Given the description of an element on the screen output the (x, y) to click on. 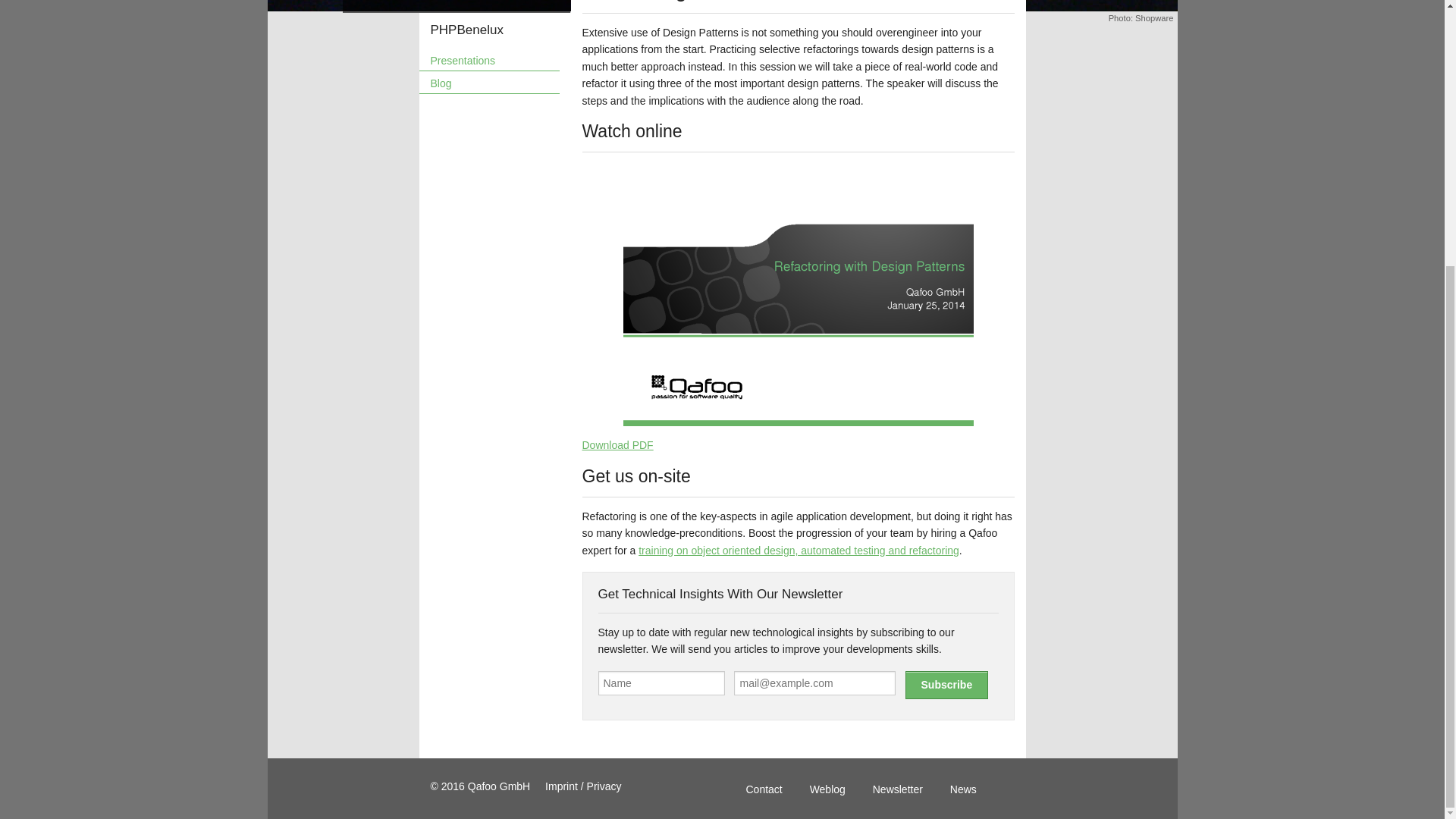
Weblog (827, 788)
Newsletter (897, 788)
Contact (763, 788)
Contact (763, 788)
Subscribe (946, 684)
Imprint (582, 786)
Newsletter (897, 788)
Download PDF (617, 444)
